Given the description of an element on the screen output the (x, y) to click on. 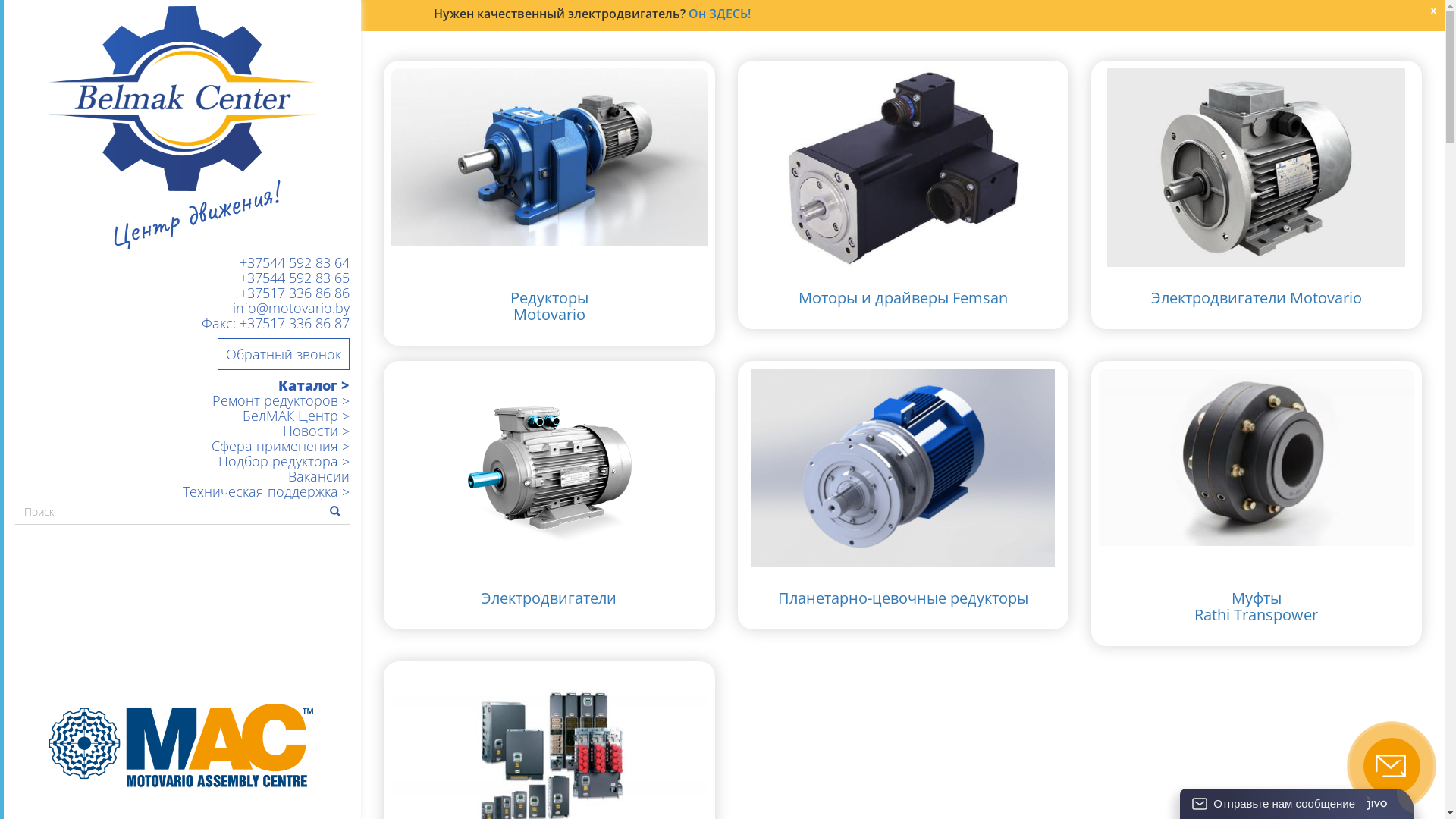
info@motovario.by Element type: text (182, 307)
+37544 592 83 64 Element type: text (182, 261)
+37517 336 86 86 Element type: text (182, 292)
+37544 592 83 65 Element type: text (182, 277)
